Given the description of an element on the screen output the (x, y) to click on. 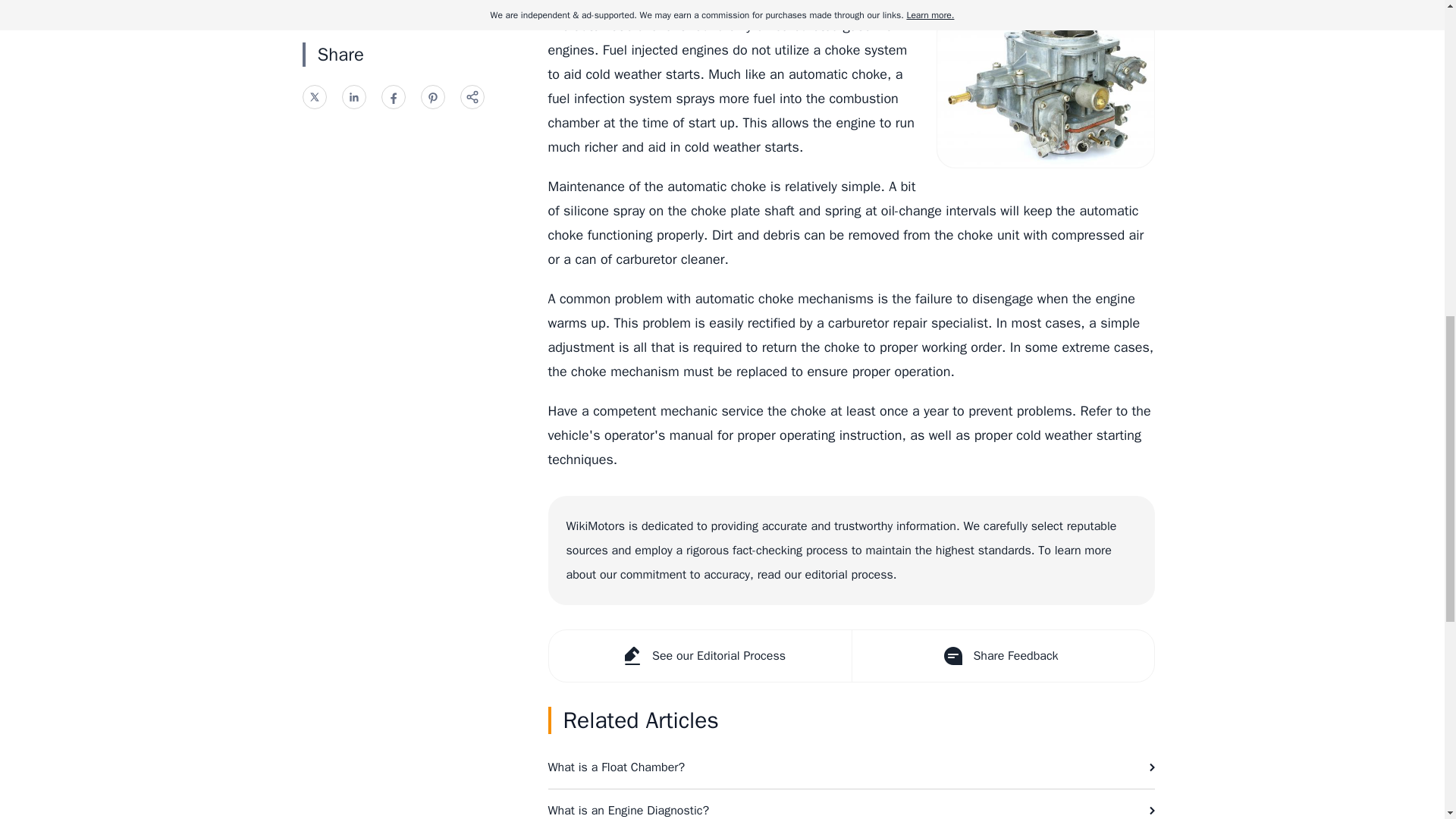
See our Editorial Process (699, 655)
What is a Float Chamber? (850, 767)
Share Feedback (1001, 655)
What is an Engine Diagnostic? (850, 804)
